Given the description of an element on the screen output the (x, y) to click on. 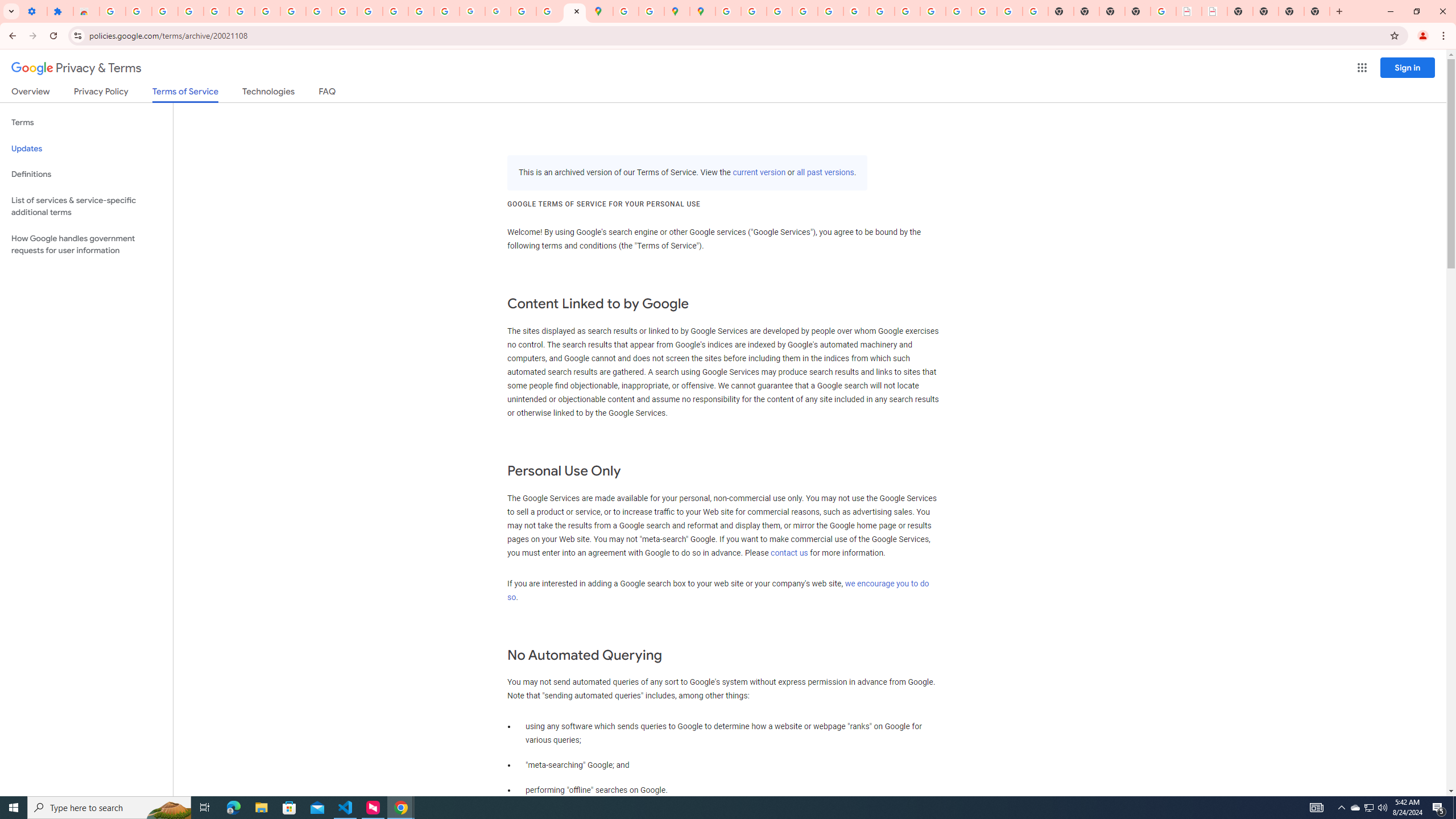
Browse Chrome as a guest - Computer - Google Chrome Help (907, 11)
How Google handles government requests for user information (86, 244)
Extensions (60, 11)
we encourage you to do so (717, 589)
current version (759, 172)
Privacy Help Center - Policies Help (779, 11)
Privacy Policy (100, 93)
FAQ (327, 93)
New Tab (1316, 11)
YouTube (881, 11)
